Given the description of an element on the screen output the (x, y) to click on. 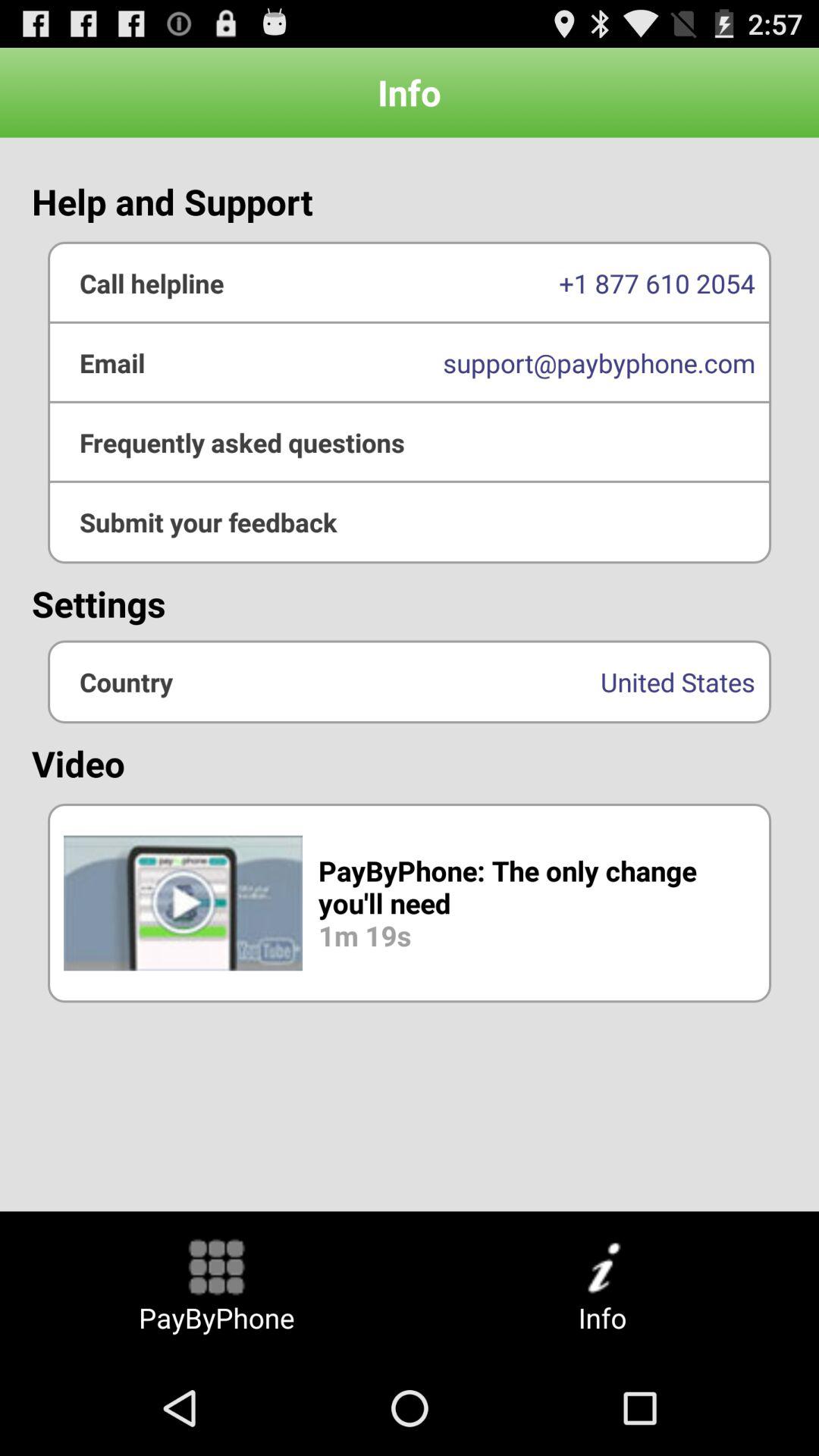
launch 1 877 610 icon (409, 282)
